Given the description of an element on the screen output the (x, y) to click on. 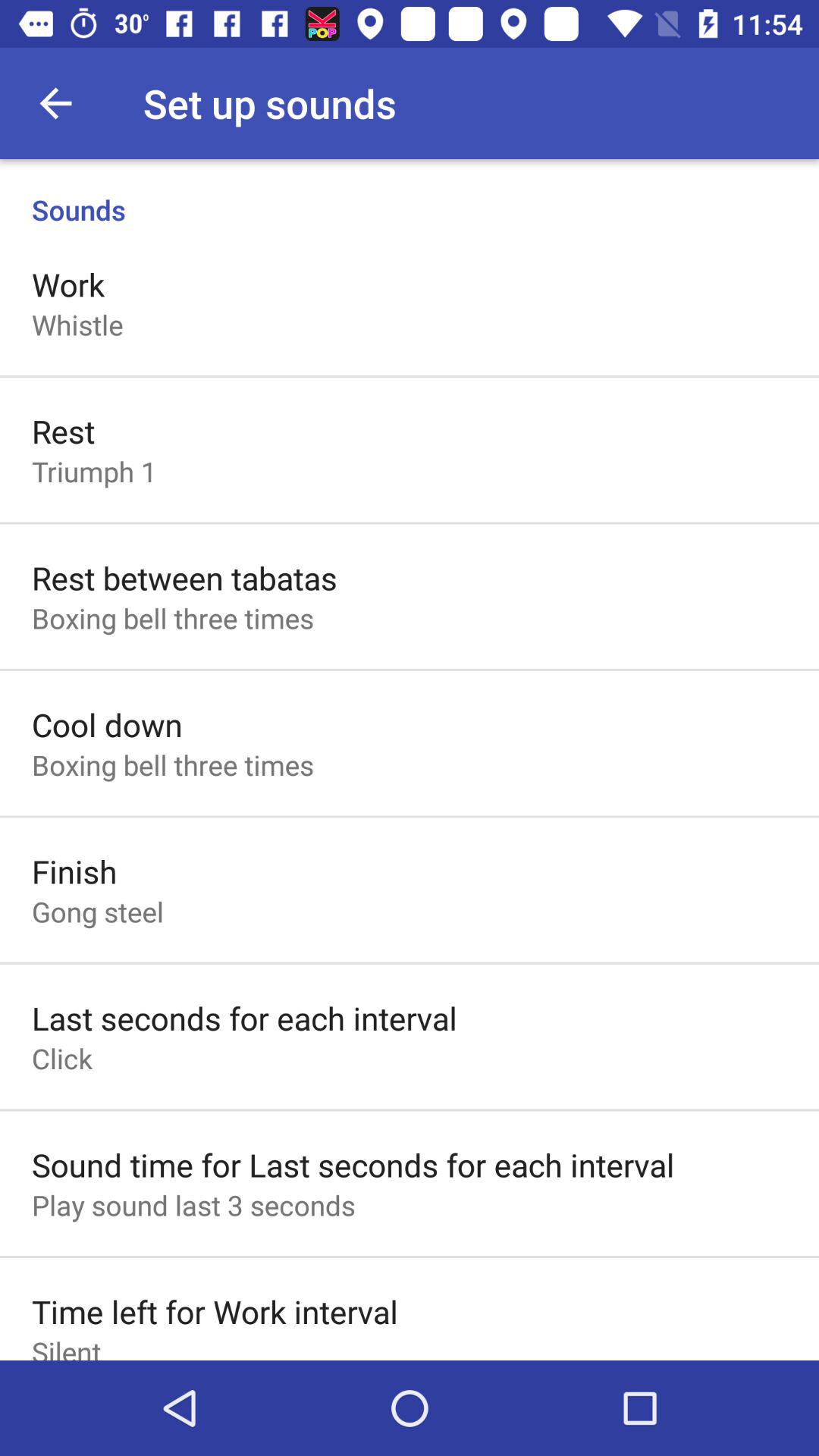
flip to whistle (77, 324)
